Given the description of an element on the screen output the (x, y) to click on. 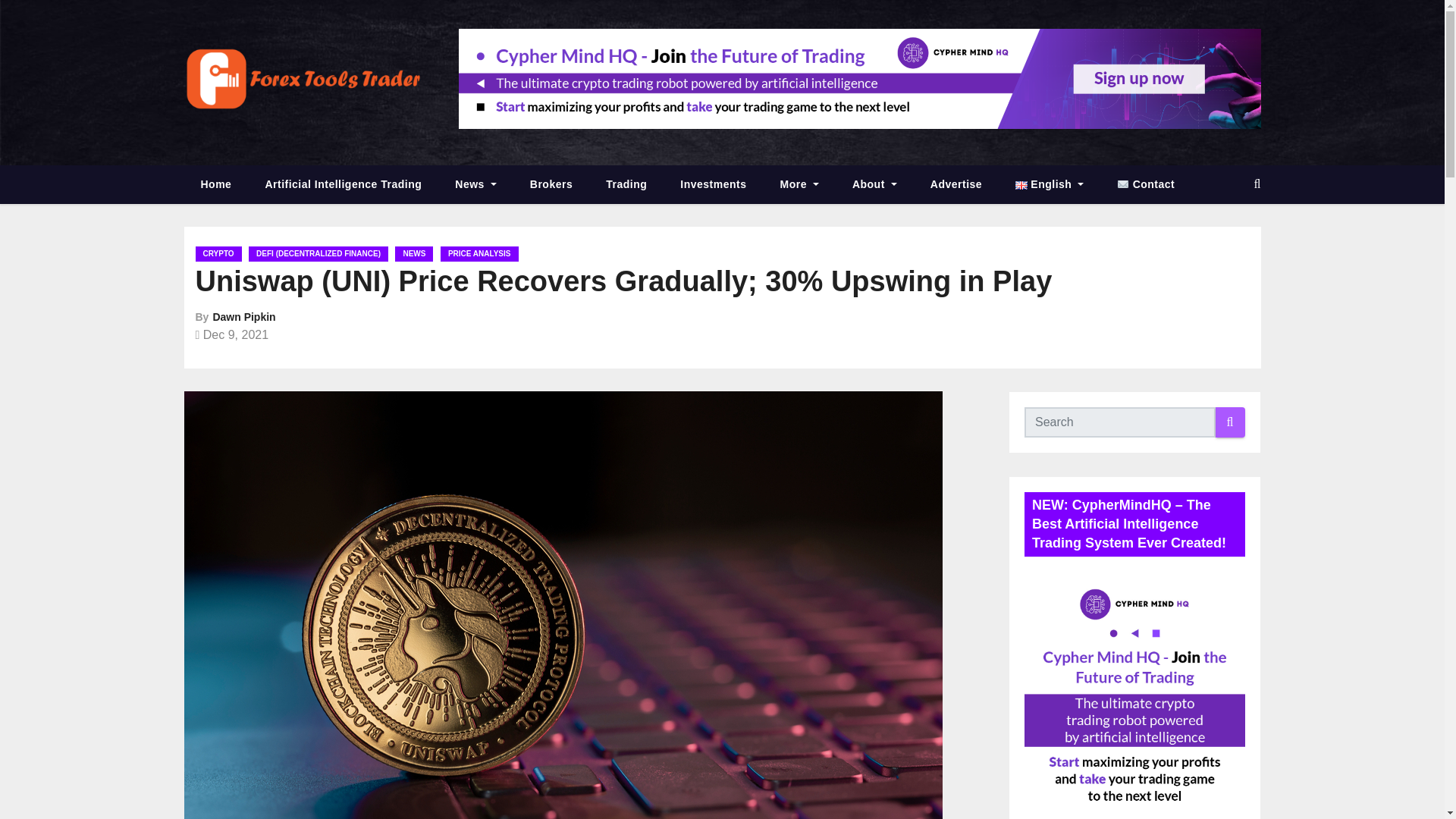
News (475, 184)
News (475, 184)
Artificial Intelligence Trading (342, 184)
cypher-mind-hq-en-long-3 - Forex Tools Trader (859, 78)
cropped-forex-tools-trader-01-1png - Forex Tools Trader (303, 78)
About (874, 184)
Brokers (551, 184)
Brokers (551, 184)
Trading (626, 184)
Advertise (956, 184)
